Given the description of an element on the screen output the (x, y) to click on. 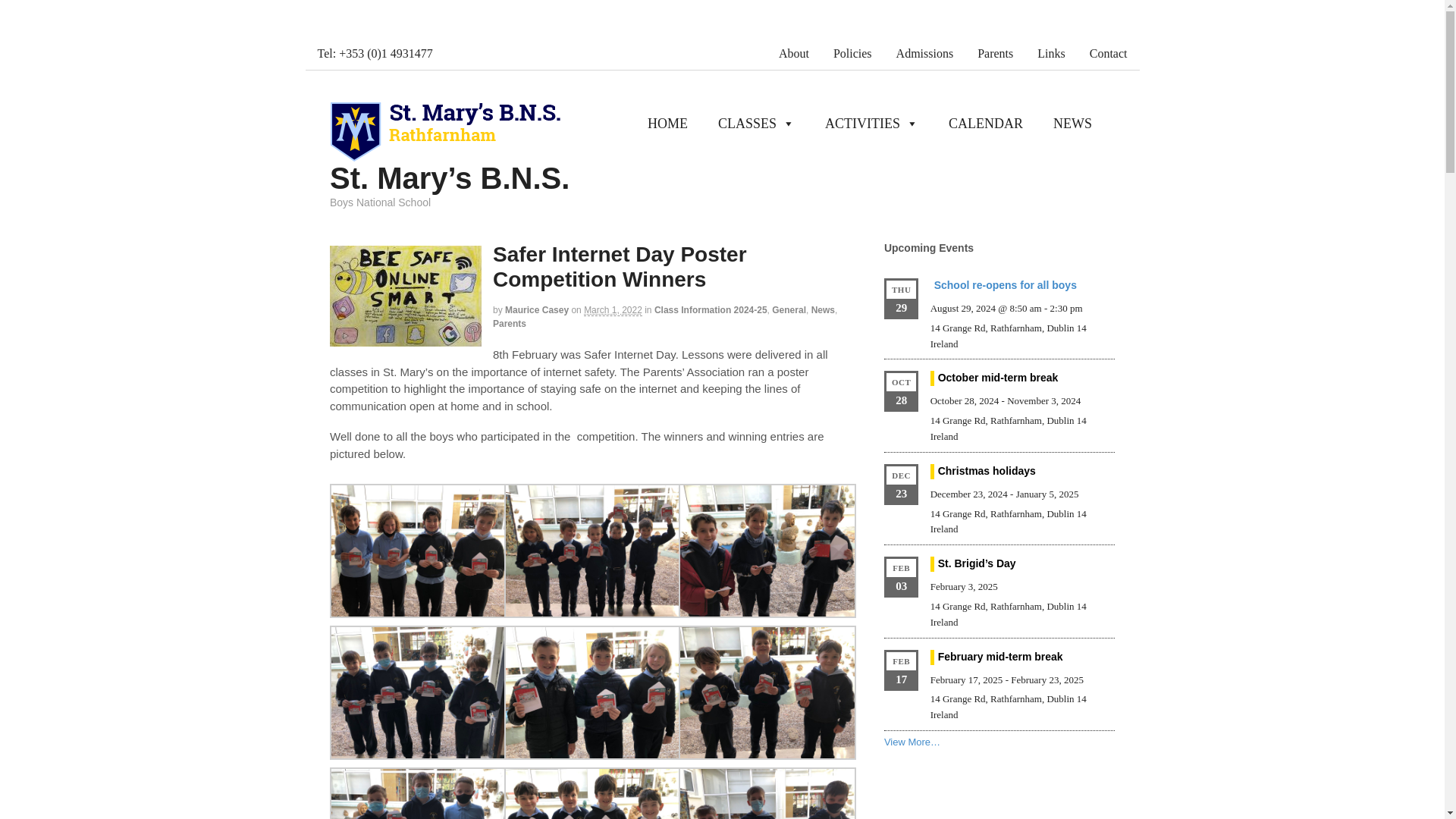
View all items in General (788, 309)
Boys National School (446, 154)
Parents (995, 53)
Admissions (924, 53)
Safer Internet Day Poster Competition Winners (405, 295)
HOME (667, 123)
Policies (852, 53)
Links (1051, 53)
CLASSES (756, 123)
View all items in Class Information 2024-25 (710, 309)
